Given the description of an element on the screen output the (x, y) to click on. 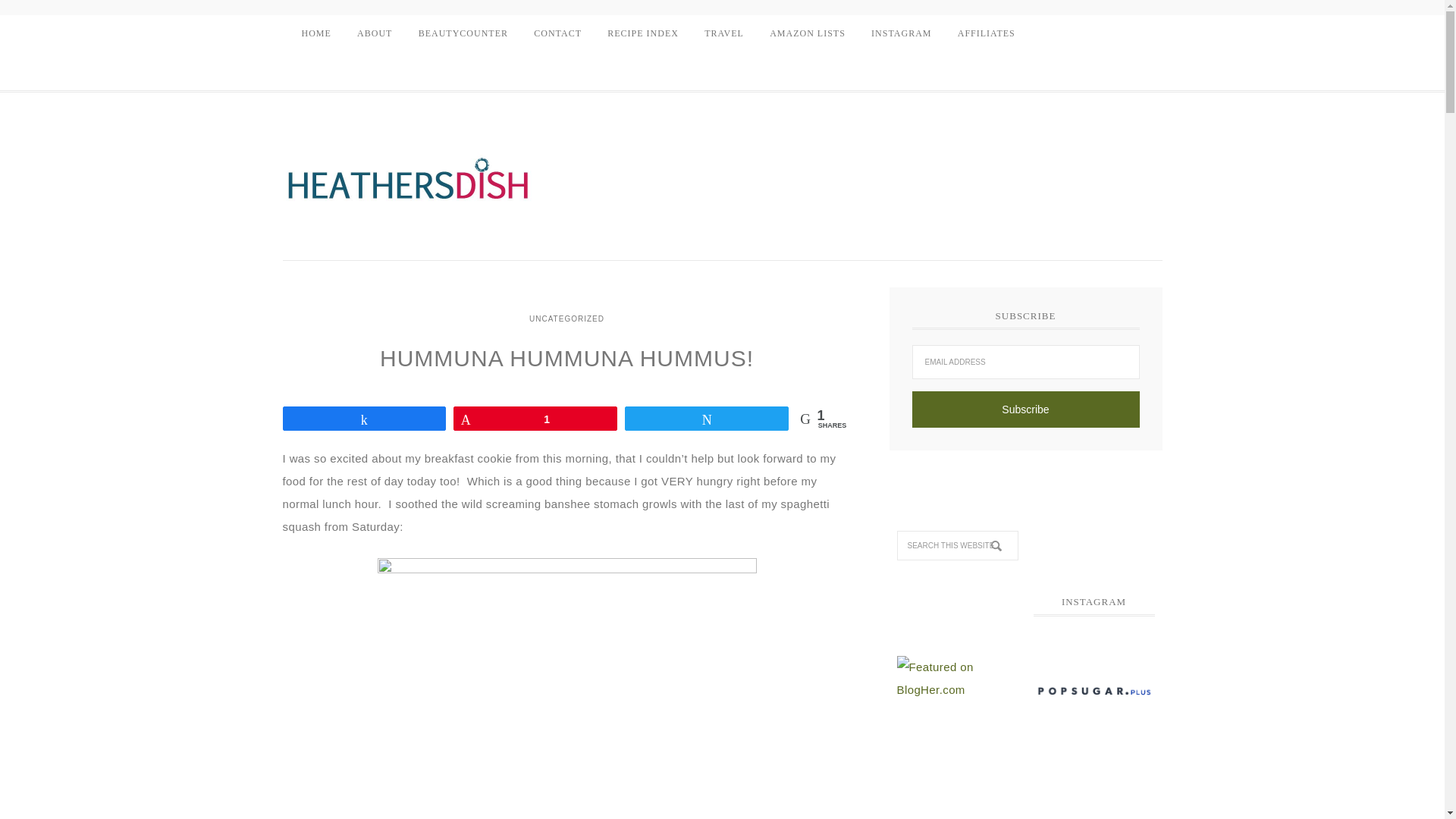
HOME (315, 33)
1 (534, 418)
Subscribe (1024, 409)
ABOUT (374, 33)
INSTAGRAM (901, 33)
AMAZON LISTS (807, 33)
Featured on BlogHer.com (956, 678)
UNCATEGORIZED (567, 318)
bfast-1 (567, 684)
TRAVEL (724, 33)
CONTACT (557, 33)
AFFILIATES (986, 33)
RECIPE INDEX (642, 33)
